Given the description of an element on the screen output the (x, y) to click on. 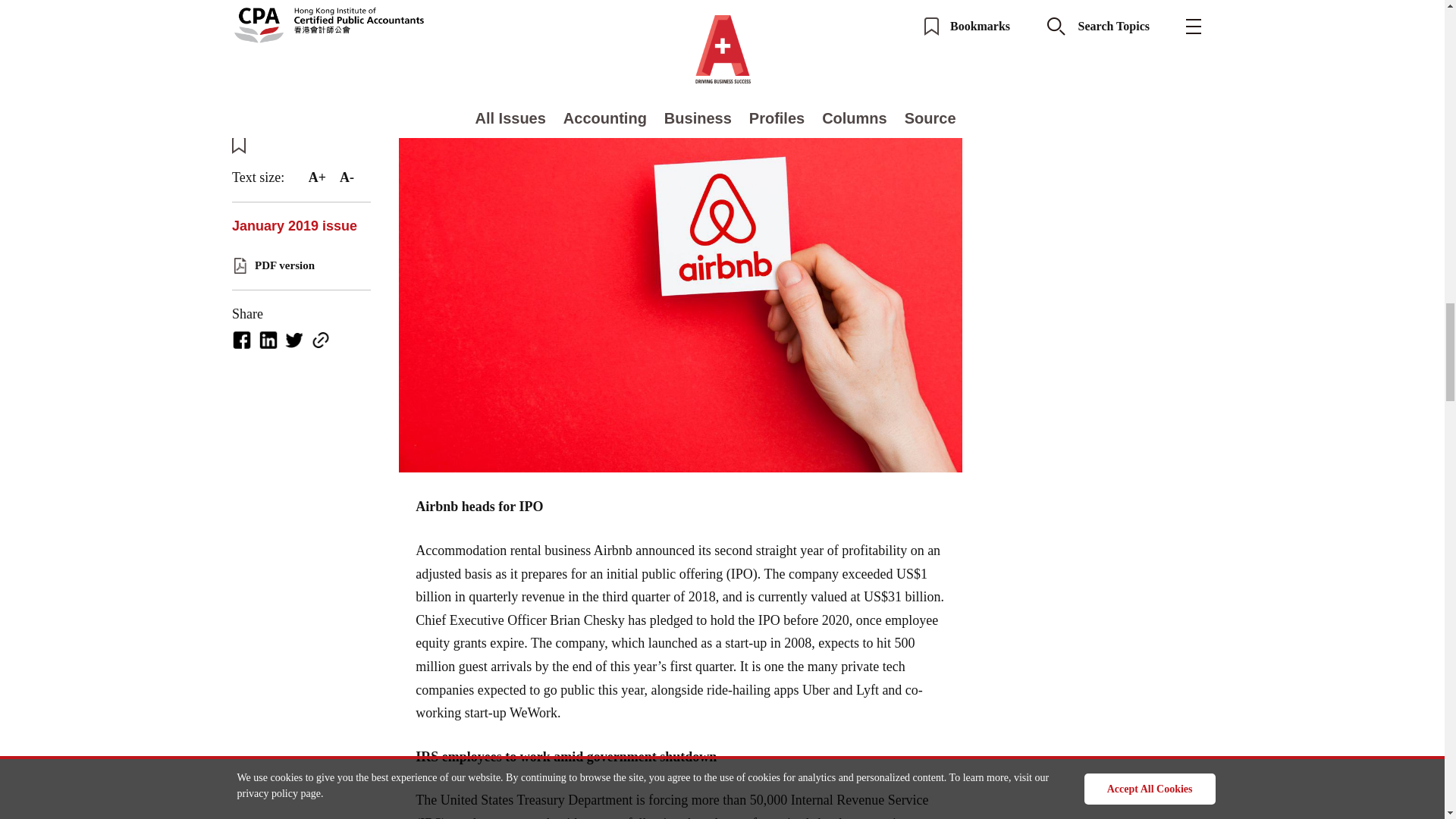
Page 2 (680, 782)
Page 2 (680, 38)
